Given the description of an element on the screen output the (x, y) to click on. 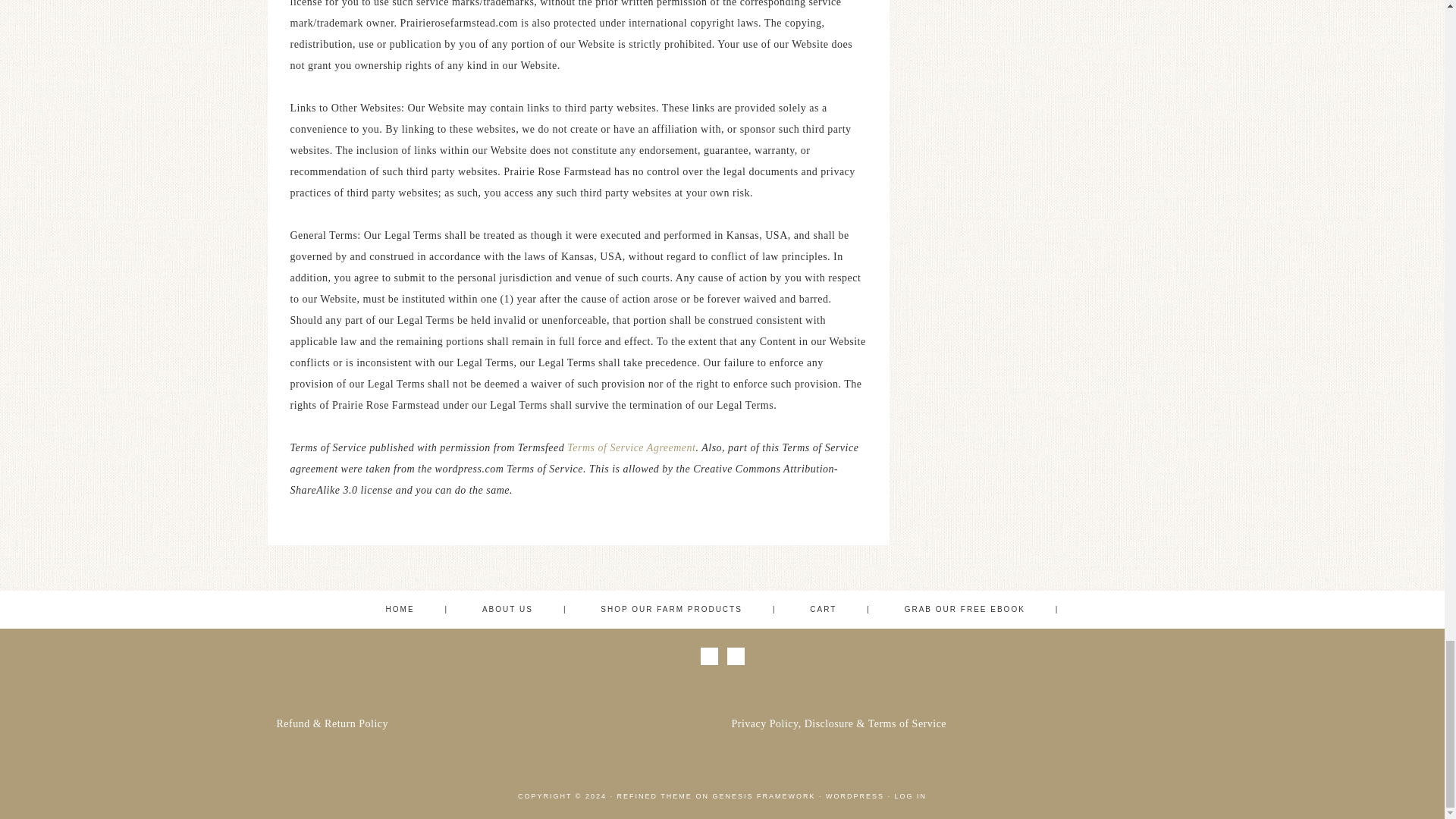
HOME (417, 608)
Terms of Service Agreement (631, 446)
ABOUT US (524, 608)
GRAB OUR FREE EBOOK (981, 608)
SHOP OUR FARM PRODUCTS (687, 608)
CART (839, 608)
GENESIS FRAMEWORK (763, 795)
REFINED THEME (655, 795)
